Given the description of an element on the screen output the (x, y) to click on. 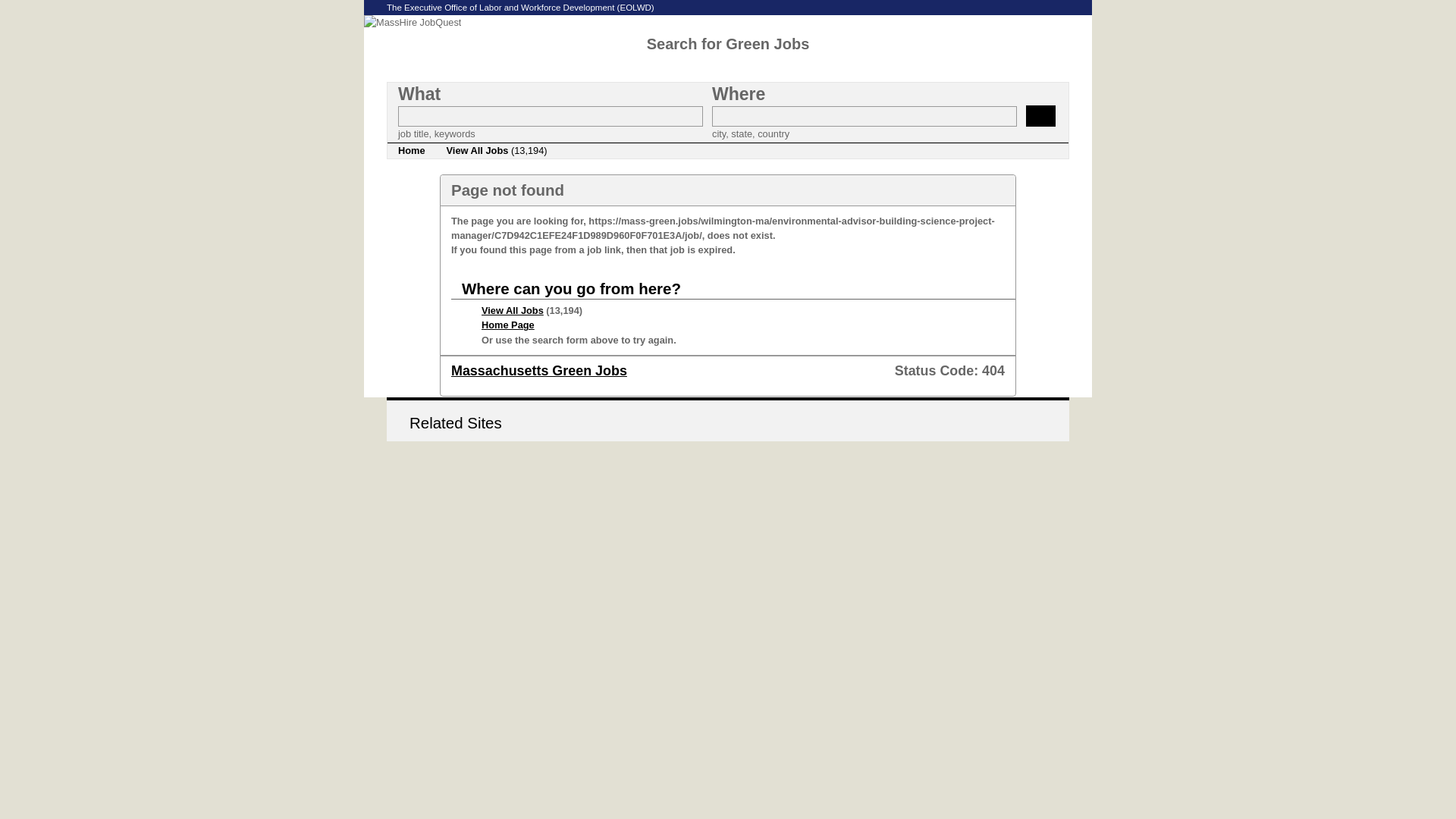
Home Page (507, 324)
search (1040, 115)
View All Jobs (512, 310)
Home (411, 150)
Search Location (863, 116)
Massachusetts Green Jobs (539, 370)
search (1040, 115)
Submit Search (1040, 115)
Search Phrase (550, 116)
